Given the description of an element on the screen output the (x, y) to click on. 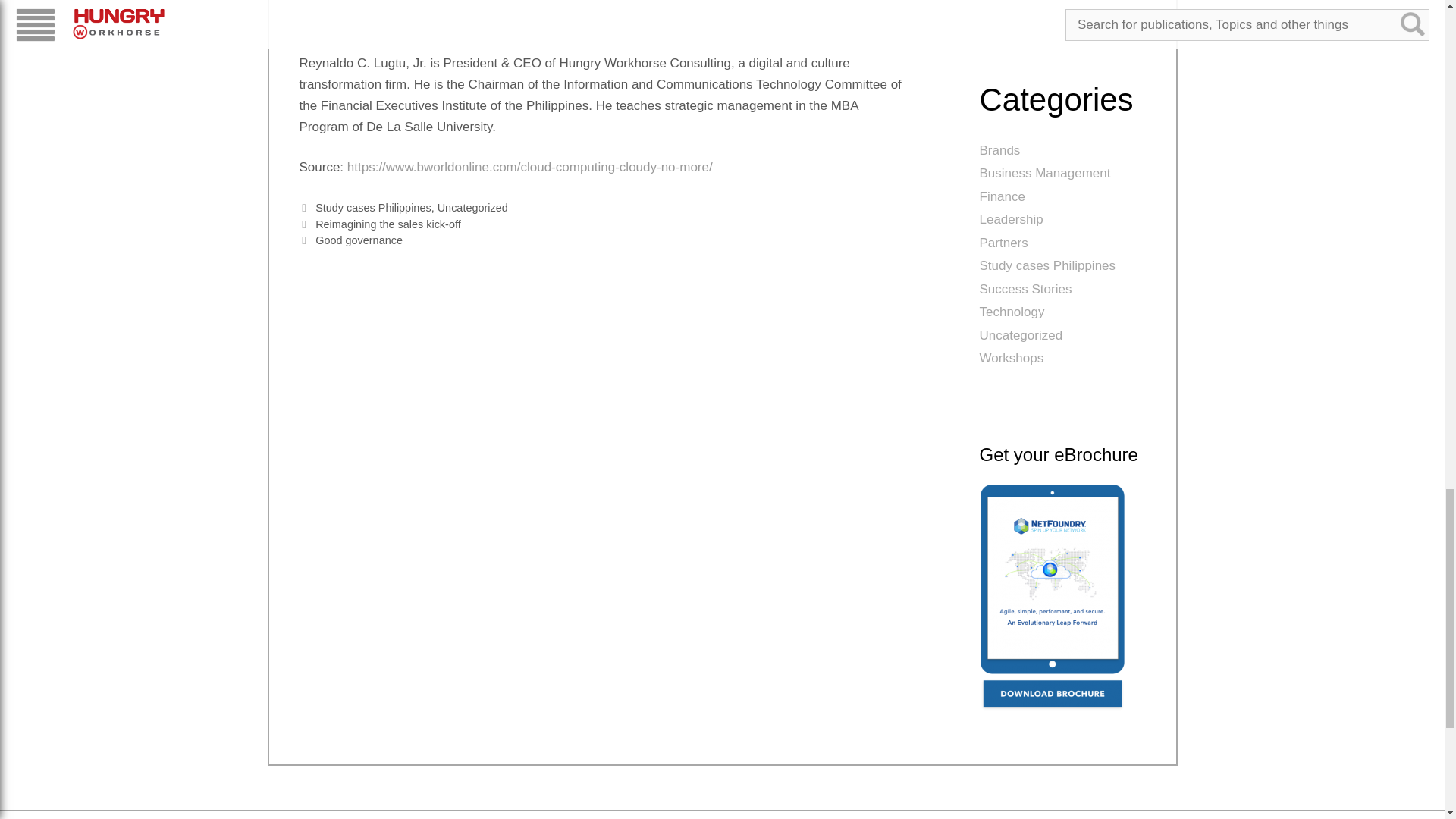
Good governance (359, 240)
Reimagining the sales kick-off (388, 224)
Study cases Philippines (372, 207)
Uncategorized (473, 207)
